Given the description of an element on the screen output the (x, y) to click on. 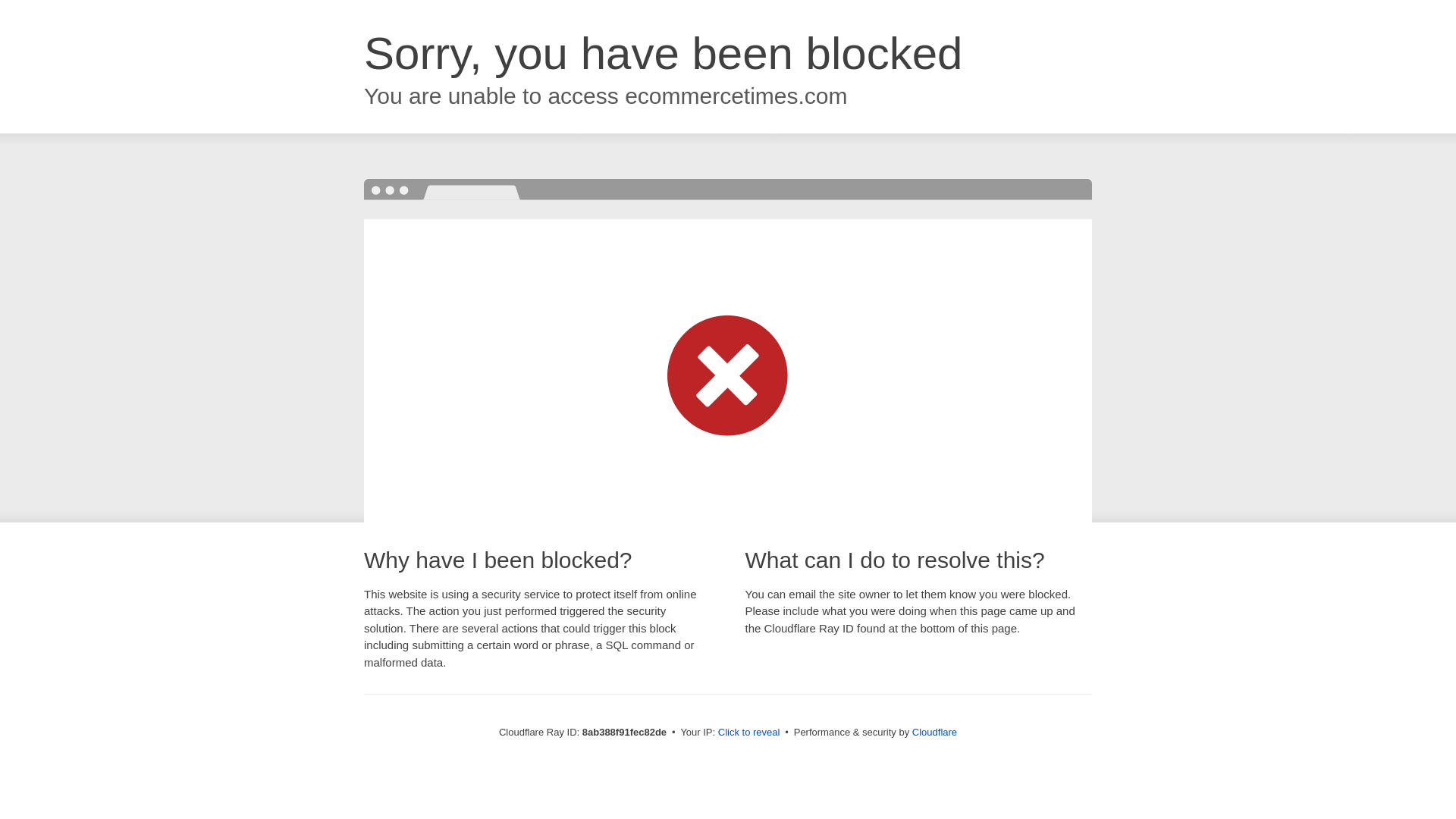
Cloudflare (934, 731)
Click to reveal (748, 732)
